Given the description of an element on the screen output the (x, y) to click on. 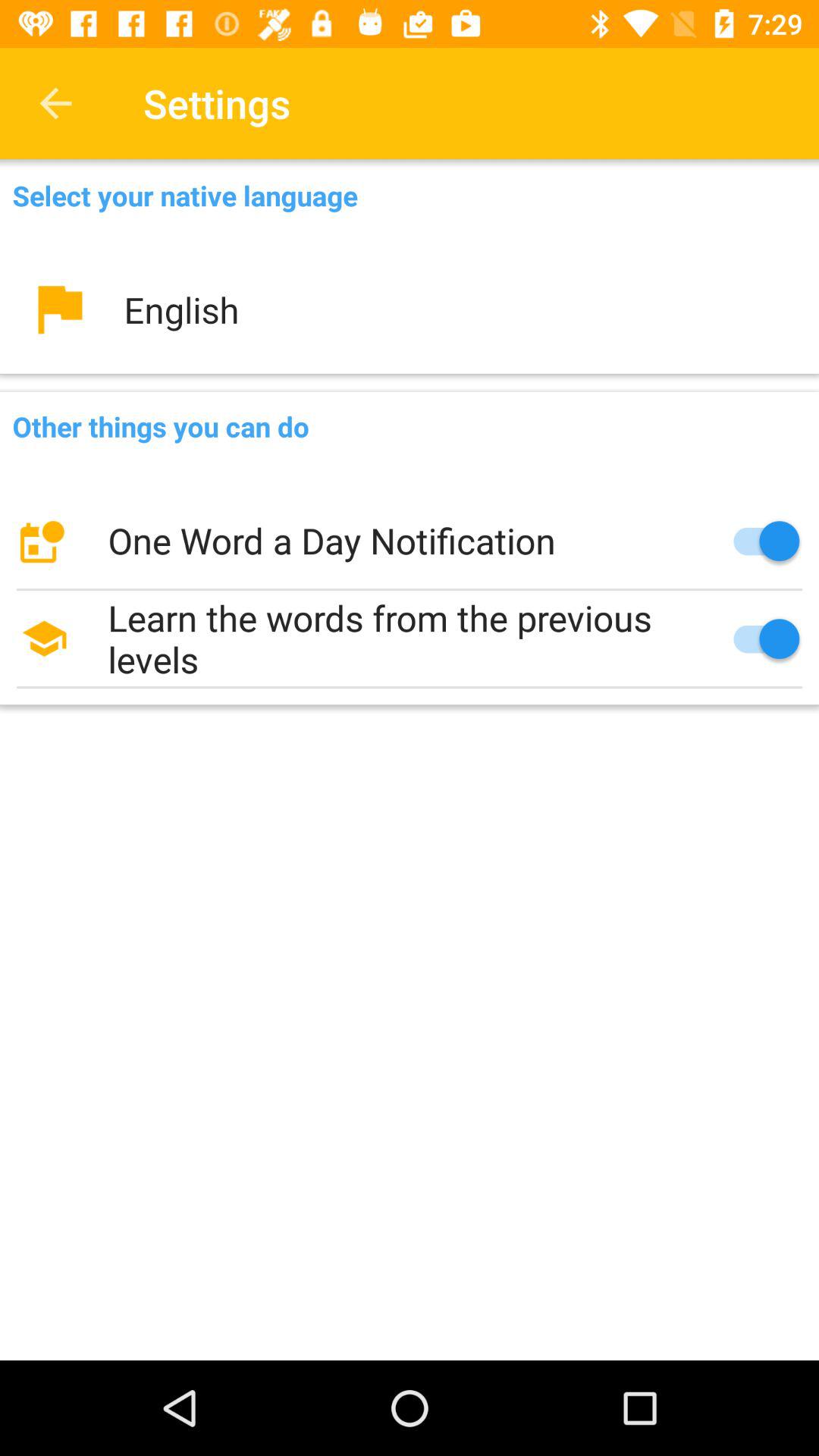
press the item below select your native item (409, 309)
